Given the description of an element on the screen output the (x, y) to click on. 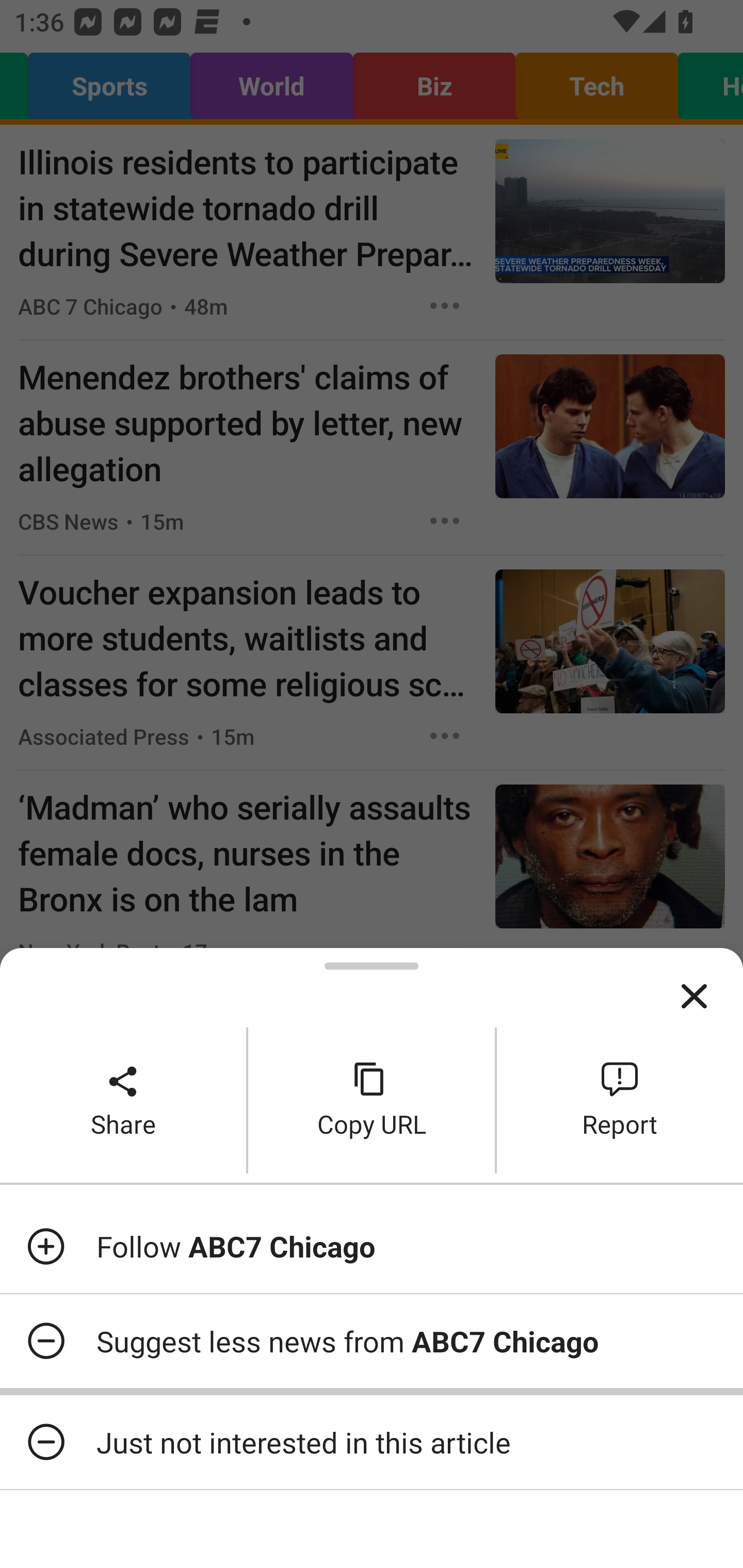
Close (694, 996)
Share (122, 1099)
Copy URL (371, 1099)
Report (620, 1099)
Follow ABC7 Chicago (371, 1246)
Suggest less news from ABC7 Chicago (371, 1340)
Just not interested in this article (371, 1442)
